Given the description of an element on the screen output the (x, y) to click on. 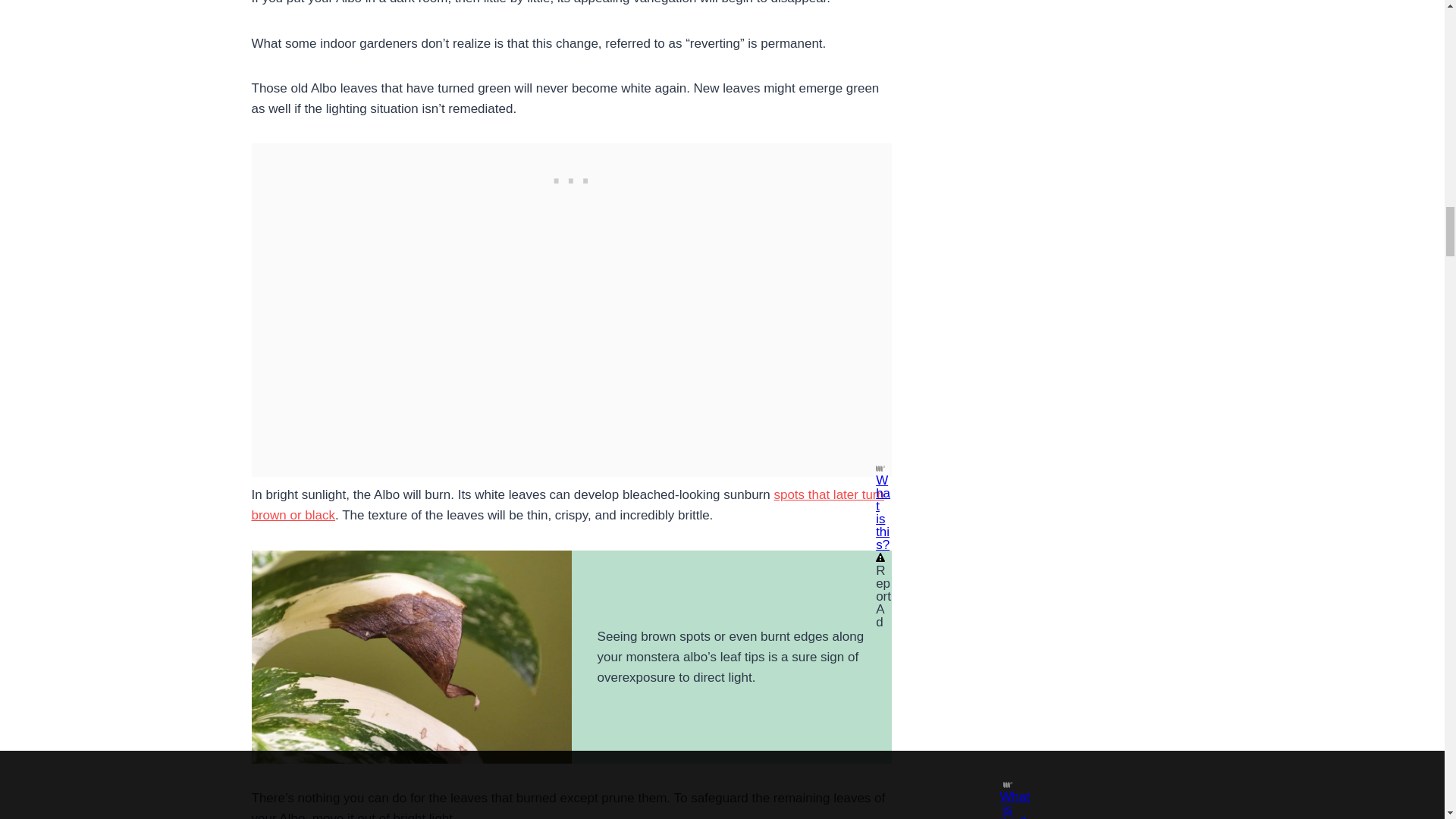
3rd party ad content (571, 177)
spots that later turn brown or black (567, 504)
